Given the description of an element on the screen output the (x, y) to click on. 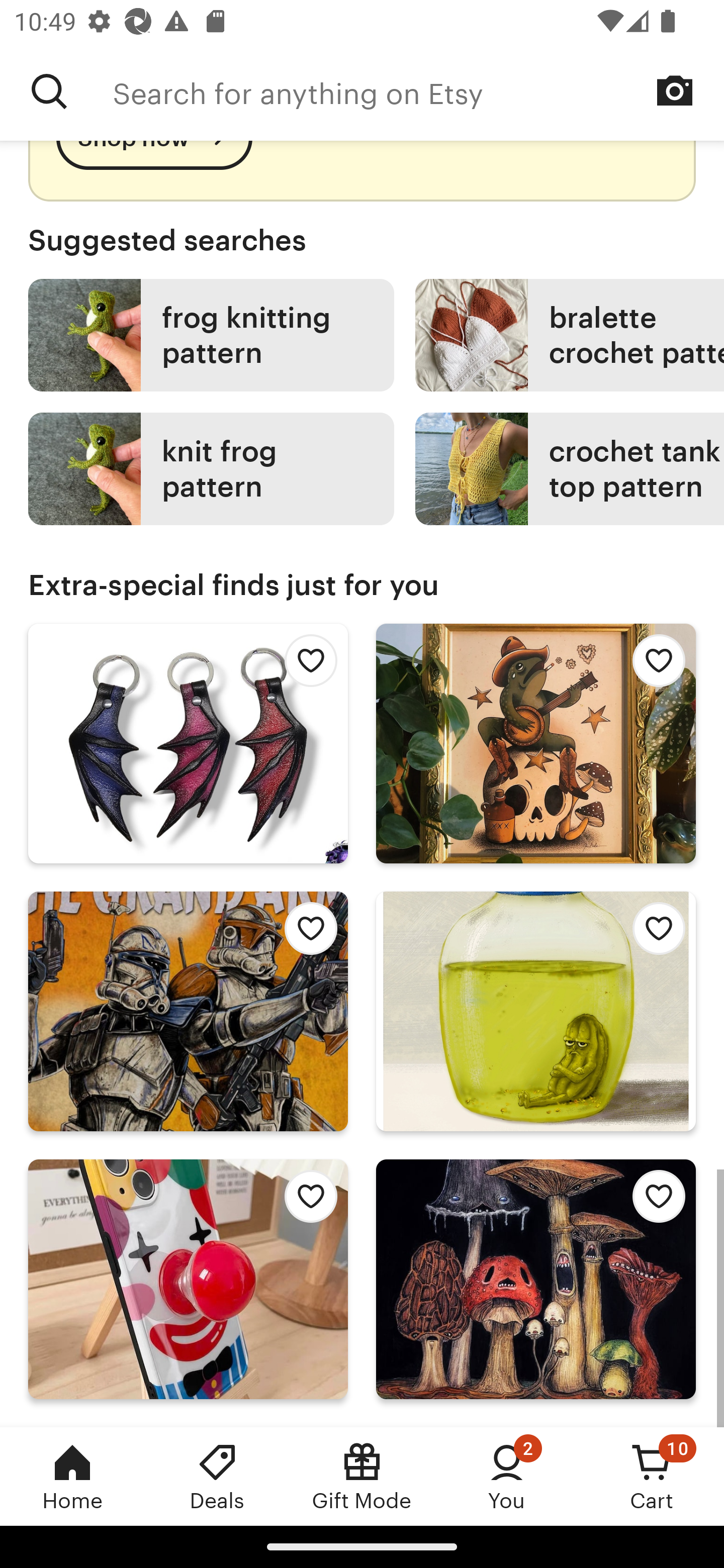
Search for anything on Etsy (49, 91)
Search by image (674, 90)
Search for anything on Etsy (418, 91)
Suggested searches (362, 240)
frog knitting pattern (210, 335)
bralette crochet pattern (569, 335)
knit frog pattern (210, 468)
crochet tank top pattern (569, 468)
Add Lonely Cowboy Print to favorites (653, 666)
Deals (216, 1475)
Gift Mode (361, 1475)
You, 2 new notifications You (506, 1475)
Cart, 10 new notifications Cart (651, 1475)
